Given the description of an element on the screen output the (x, y) to click on. 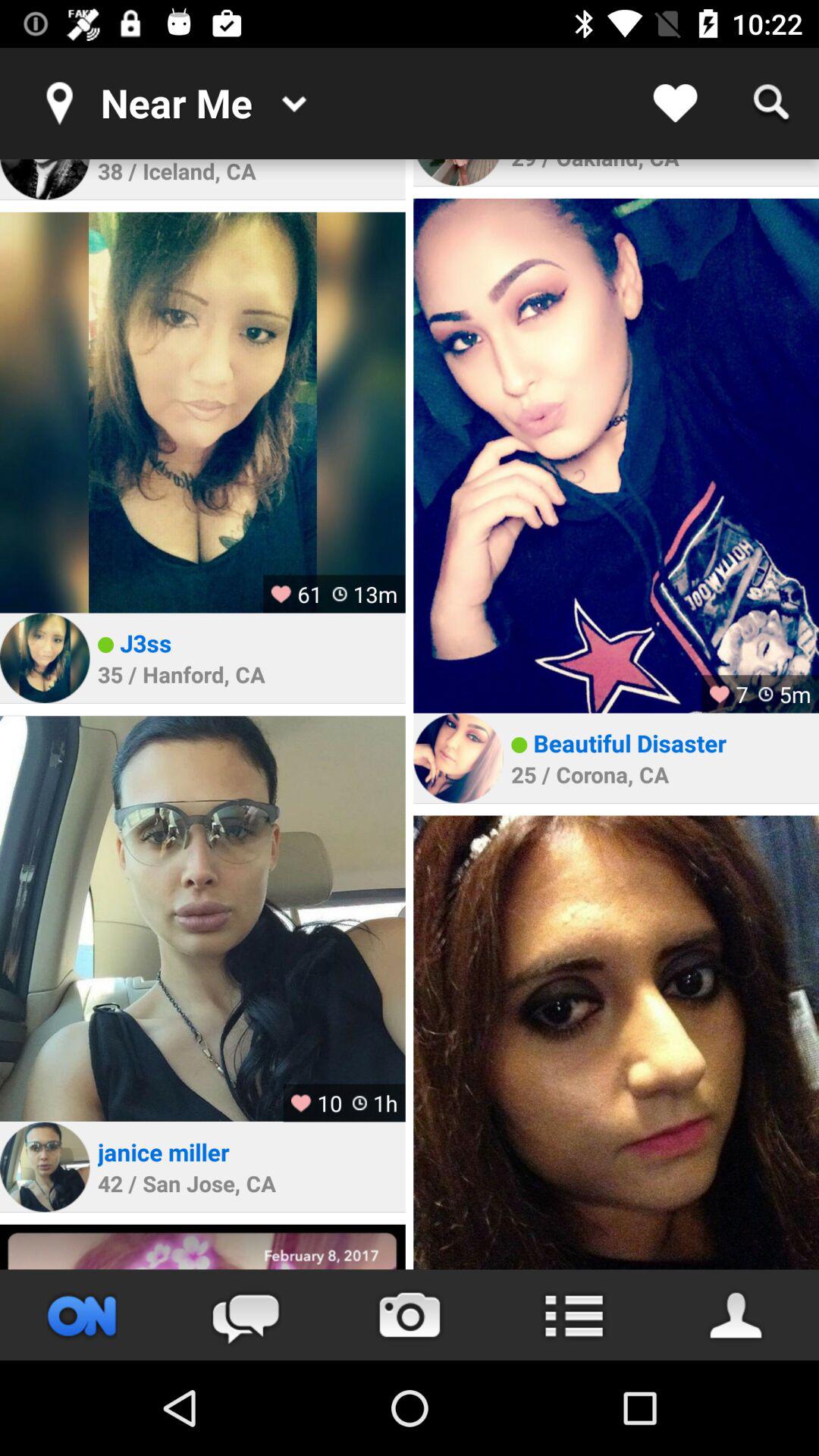
go to image (616, 455)
